Given the description of an element on the screen output the (x, y) to click on. 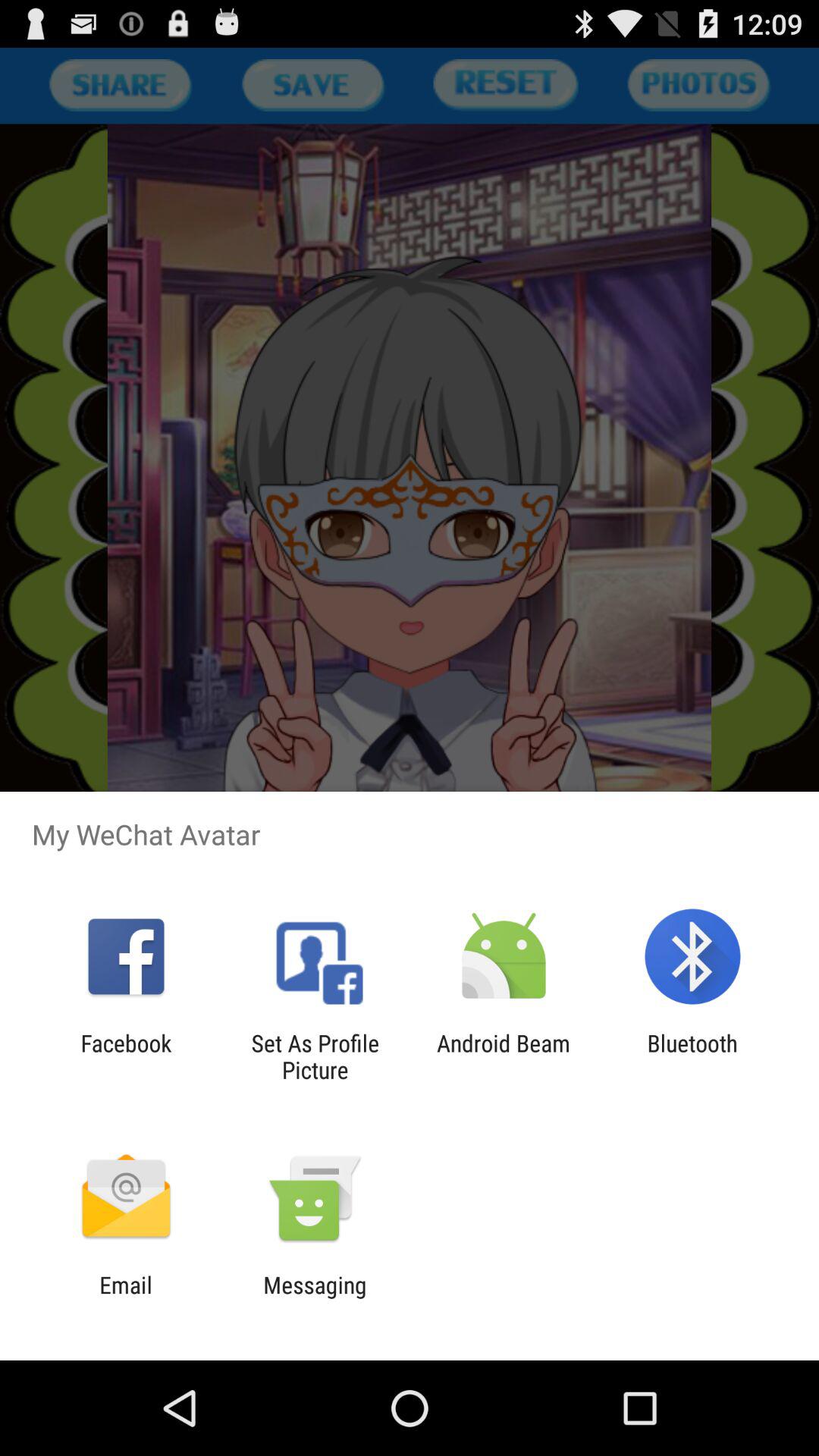
click the icon next to the messaging icon (125, 1298)
